Given the description of an element on the screen output the (x, y) to click on. 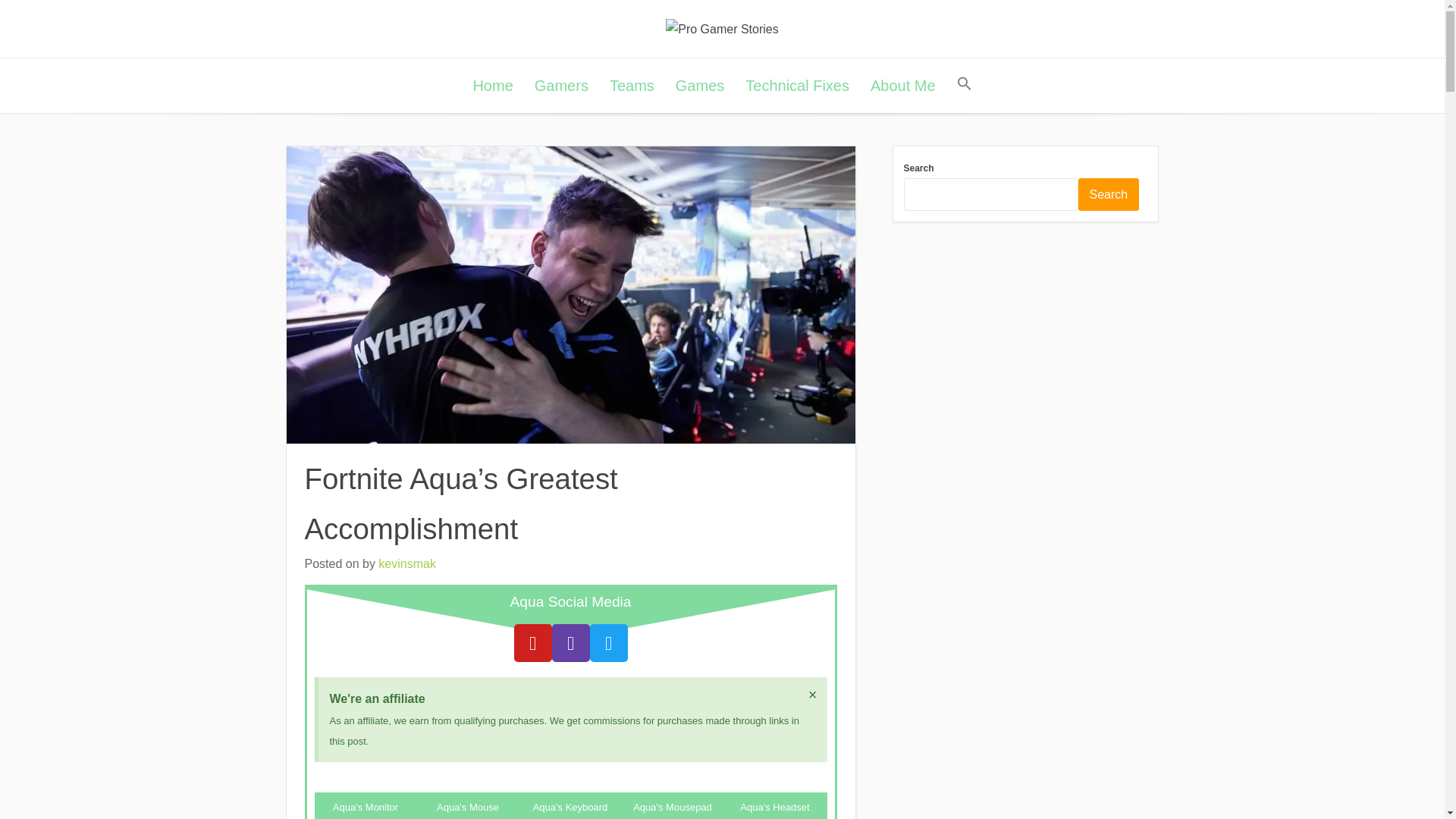
Games (700, 85)
kevinsmak (406, 563)
About Me (903, 85)
Gamers (561, 85)
Technical Fixes (797, 85)
Home (491, 85)
Teams (631, 85)
